Given the description of an element on the screen output the (x, y) to click on. 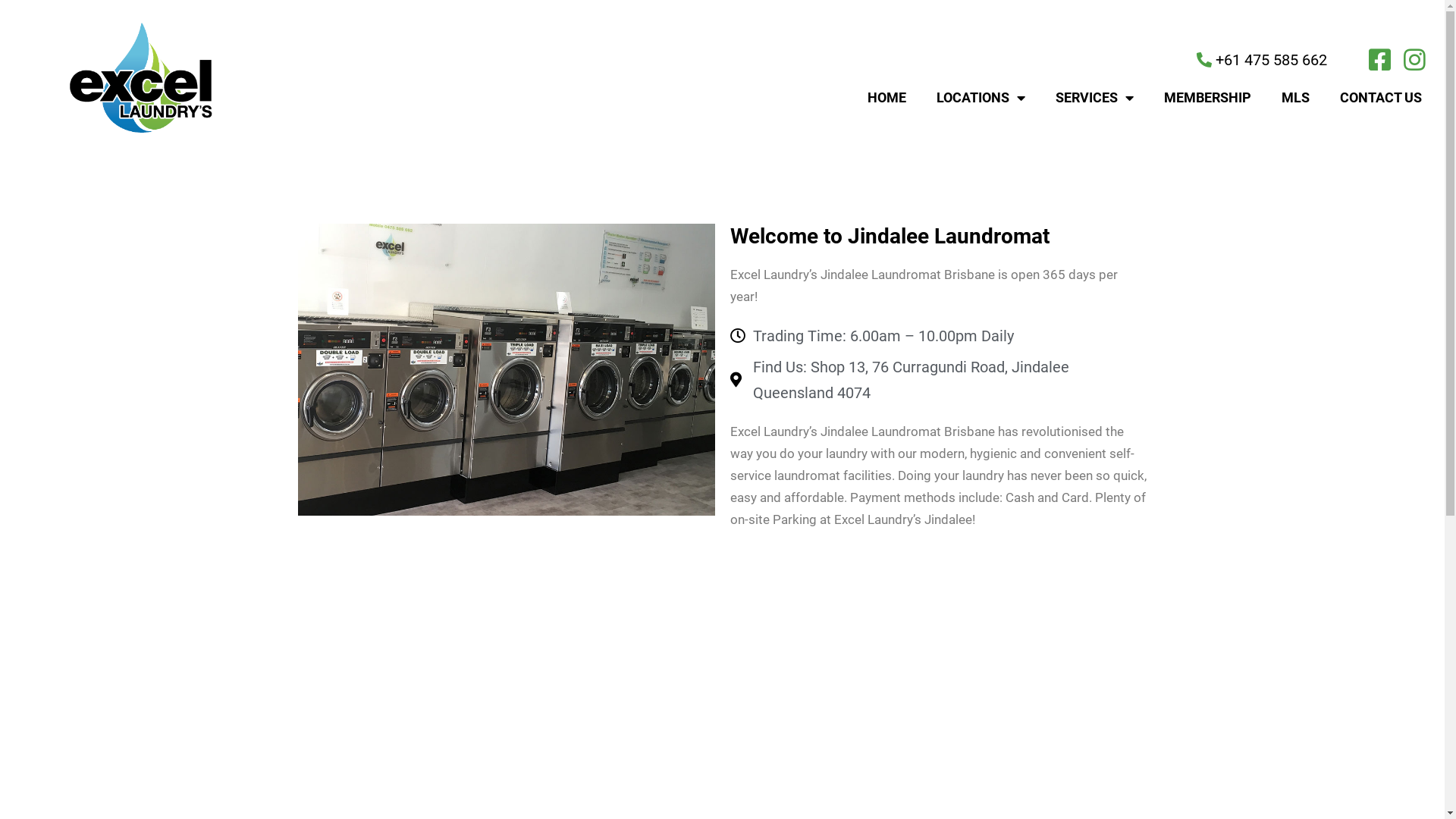
CONTACT US Element type: text (1380, 97)
LOCATIONS Element type: text (980, 97)
MEMBERSHIP Element type: text (1207, 97)
+61 475 585 662 Element type: text (886, 59)
HOME Element type: text (886, 97)
Shop 13, 76 Curragundi Road, Jindalee Queensland 4074 Element type: hover (721, 689)
MLS Element type: text (1295, 97)
SERVICES Element type: text (1094, 97)
